Given the description of an element on the screen output the (x, y) to click on. 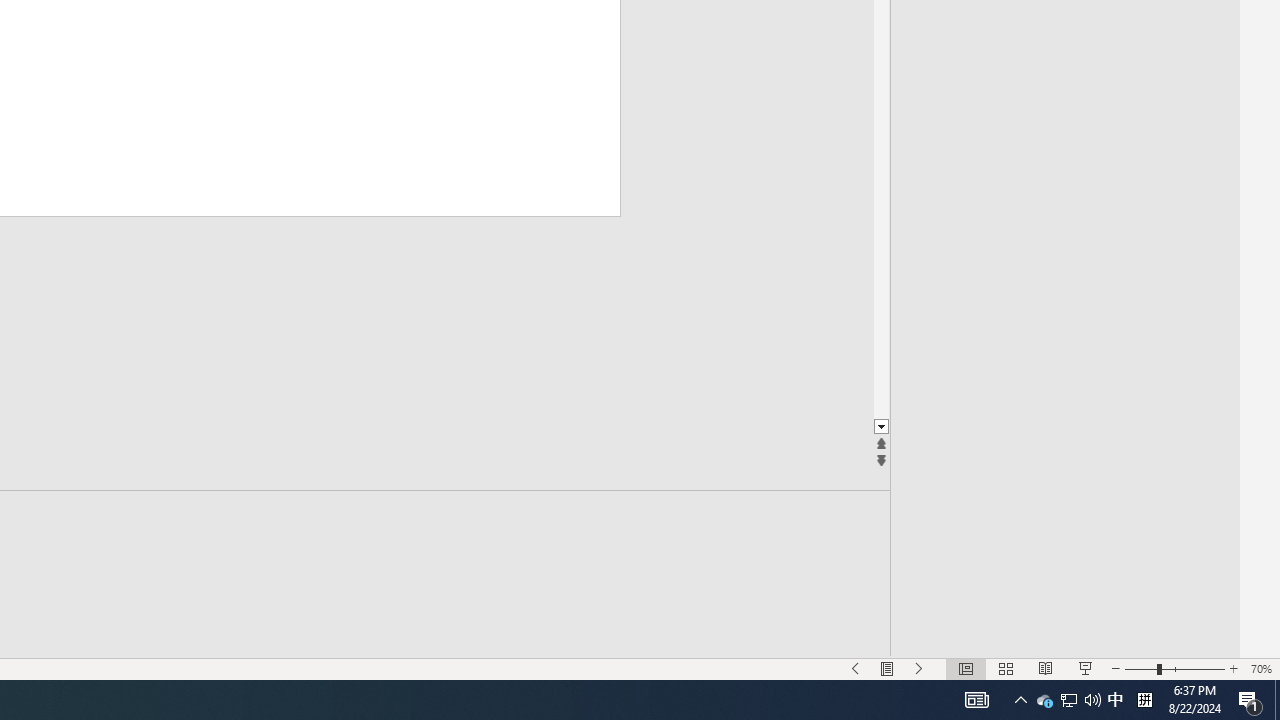
Menu On (887, 668)
Slide Show Next On (919, 668)
Slide Show Previous On (855, 668)
Zoom 70% (1261, 668)
